Given the description of an element on the screen output the (x, y) to click on. 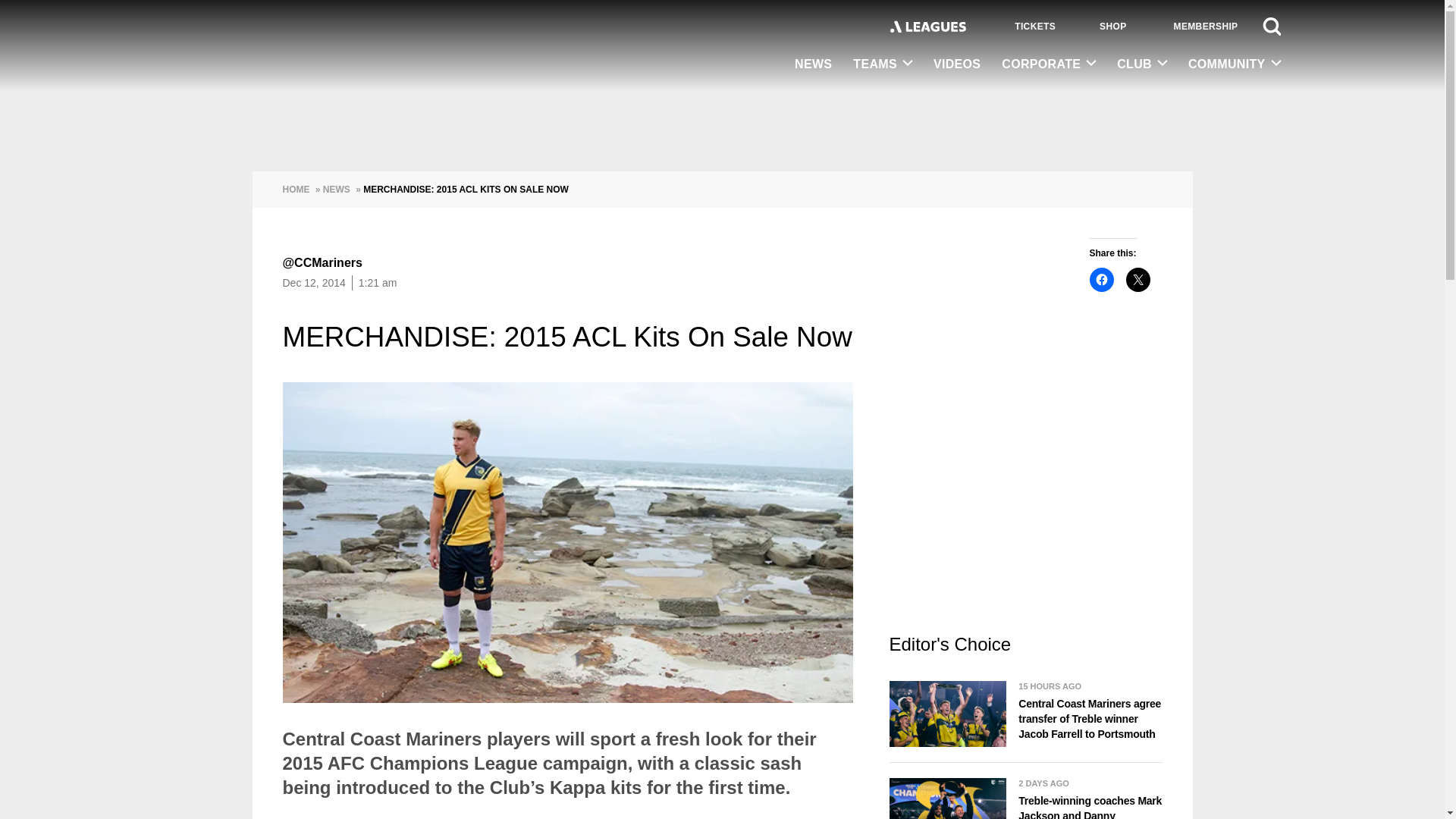
CLUB (1141, 64)
TEAMS (883, 64)
VIDEOS (957, 65)
NEWS (813, 65)
CORPORATE (1048, 64)
